Given the description of an element on the screen output the (x, y) to click on. 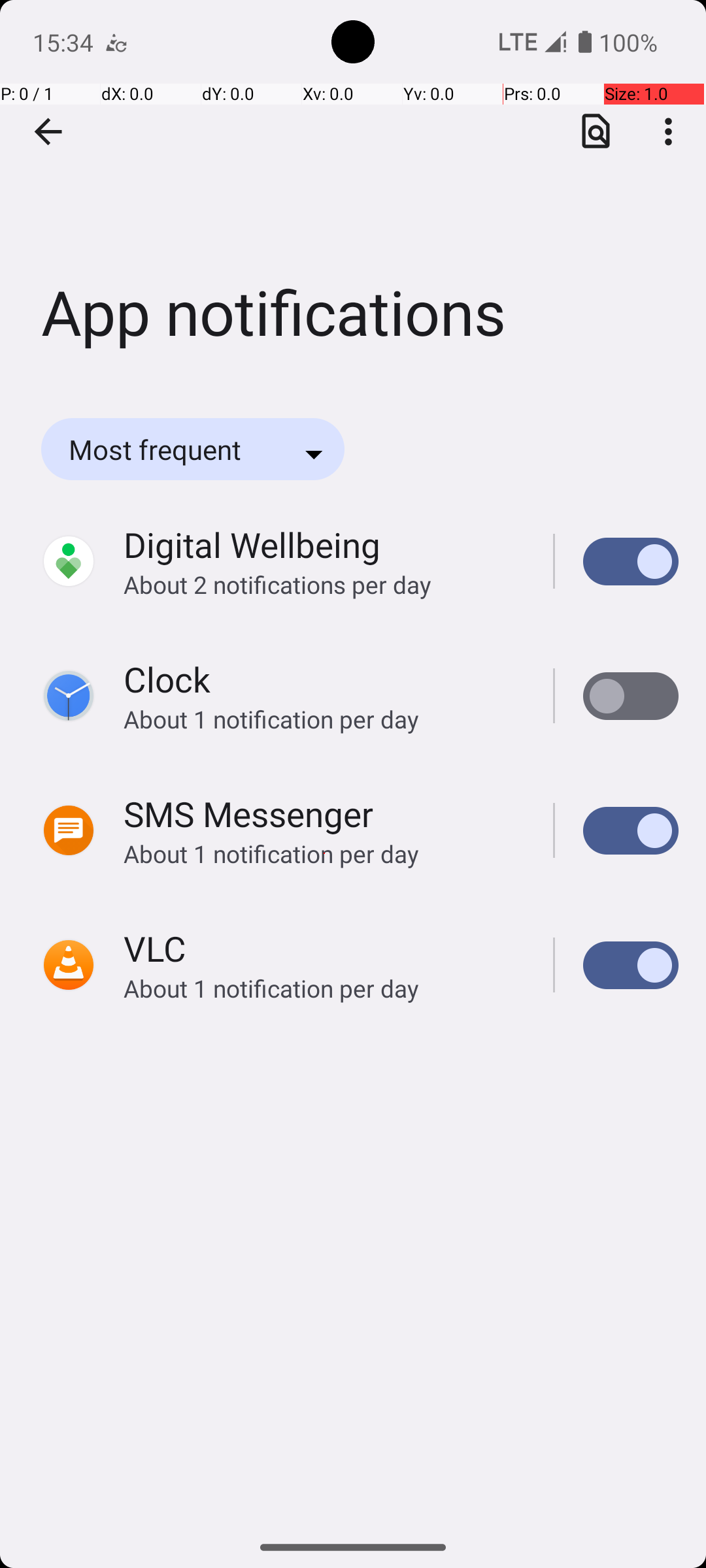
App notifications Element type: android.widget.FrameLayout (353, 195)
Most frequent Element type: android.widget.TextView (172, 448)
Digital Wellbeing Element type: android.widget.TextView (252, 544)
About 2 notifications per day Element type: android.widget.TextView (324, 584)
About 1 notification per day Element type: android.widget.TextView (324, 718)
